Given the description of an element on the screen output the (x, y) to click on. 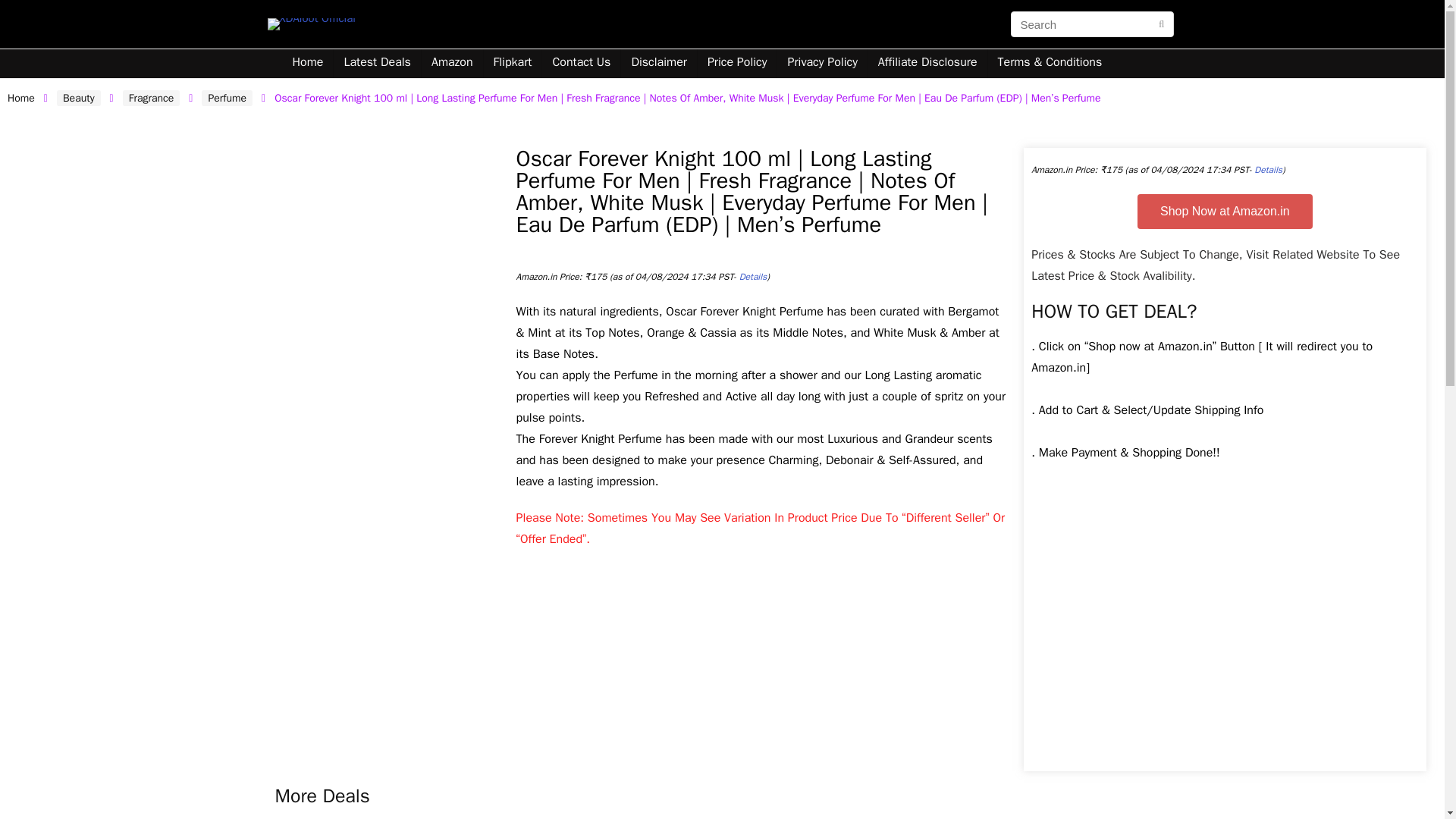
Details (1267, 169)
Amazon (452, 63)
Disclaimer (658, 63)
Shop Now at Amazon.in (1225, 211)
Home (307, 63)
Affiliate Disclosure (927, 63)
Flipkart (512, 63)
Details (753, 276)
Fragrance (151, 98)
Contact Us (580, 63)
Latest Deals (376, 63)
Beauty (78, 98)
Home (20, 97)
Perfume (226, 98)
Price Policy (737, 63)
